Given the description of an element on the screen output the (x, y) to click on. 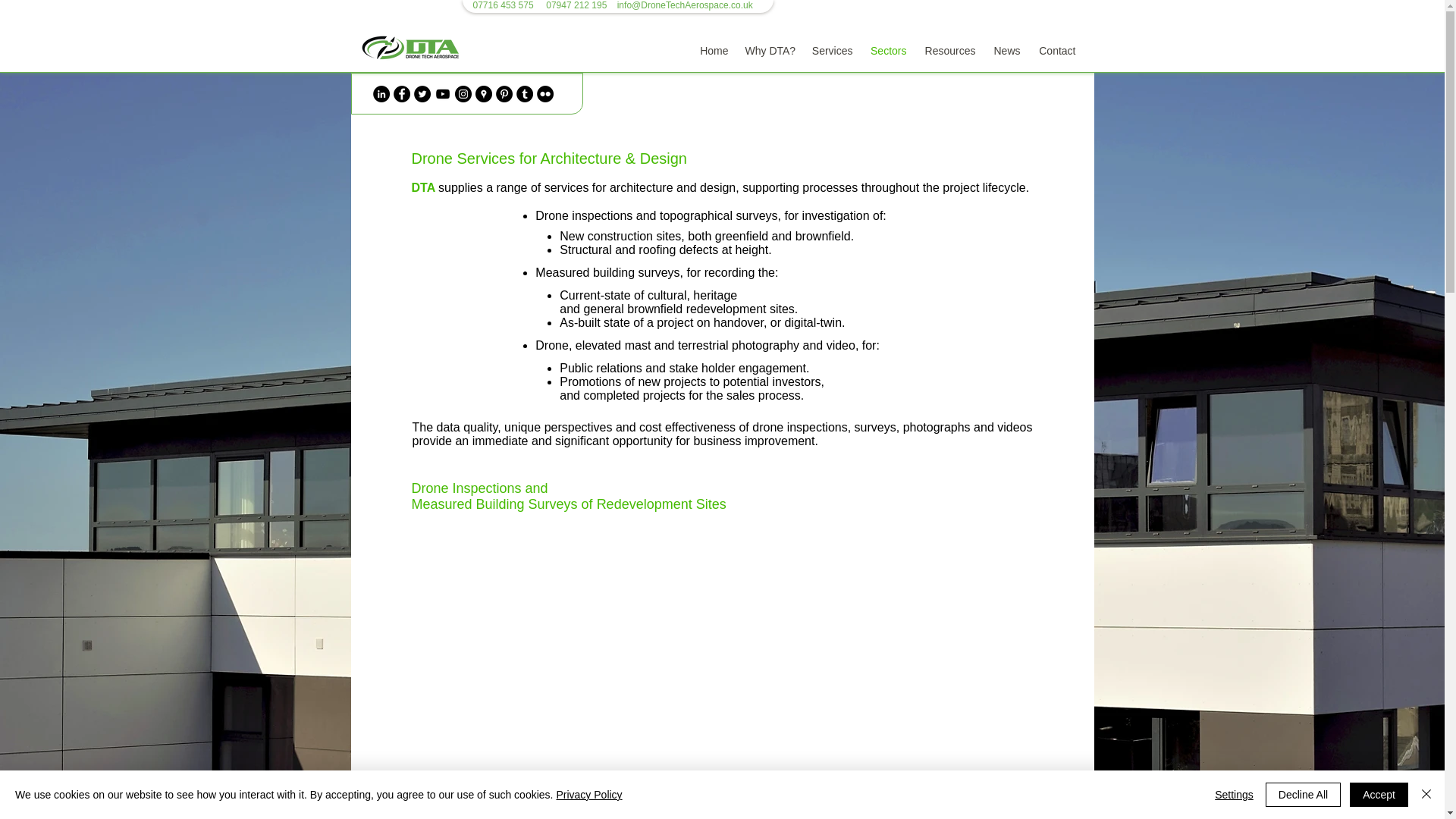
07716 453 575 (503, 5)
Sectors (887, 50)
Services (831, 50)
Click for DTA Home page (411, 46)
07947 212 195 (576, 5)
Home (713, 50)
